Given the description of an element on the screen output the (x, y) to click on. 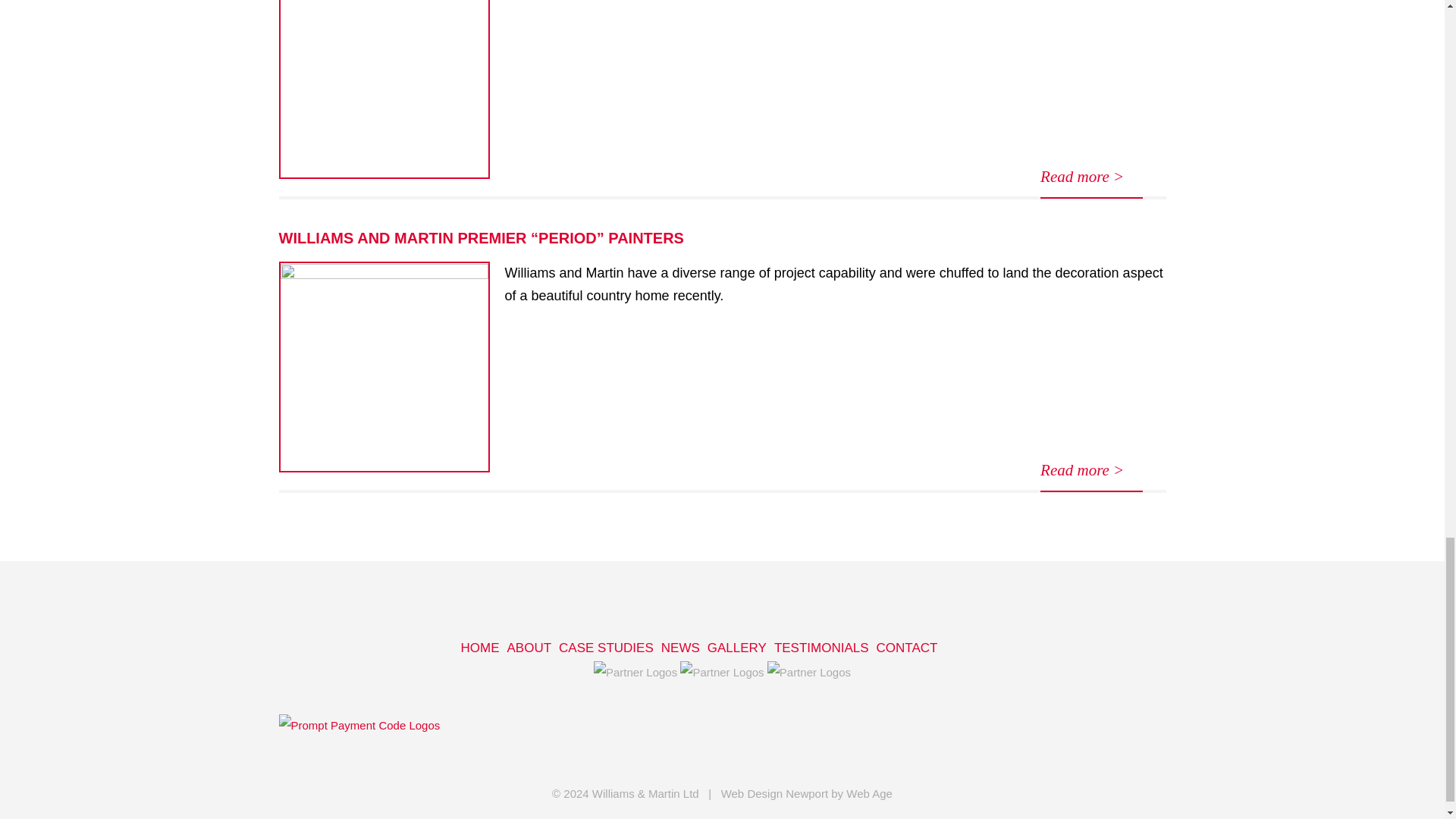
HOME (480, 648)
ABOUT (528, 648)
Web Design Newport (774, 793)
CASE STUDIES (606, 648)
Web Age (868, 793)
